Given the description of an element on the screen output the (x, y) to click on. 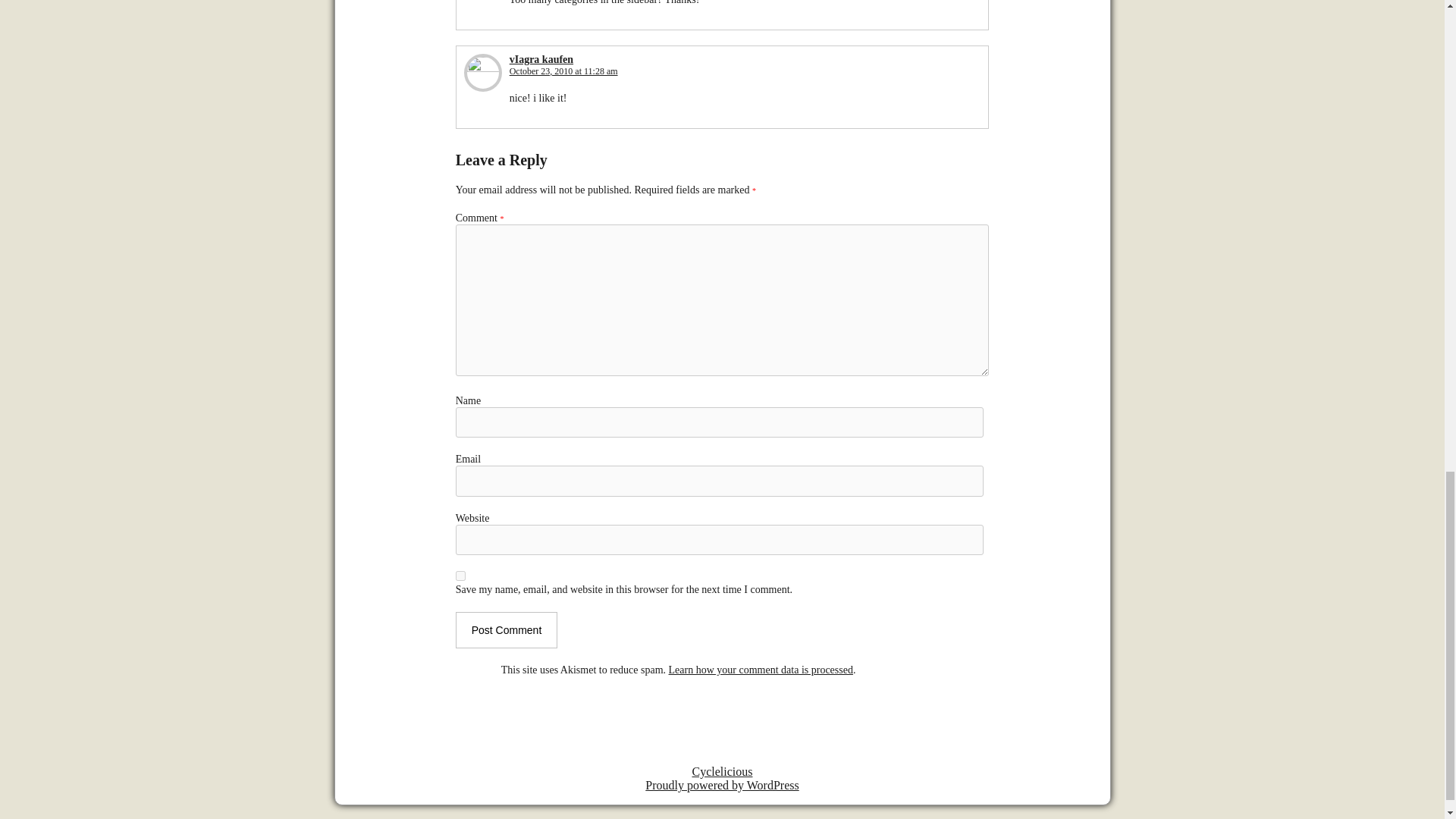
Post Comment (506, 629)
Proudly powered by WordPress (721, 784)
yes (460, 575)
Learn how your comment data is processed (760, 669)
Post Comment (506, 629)
vIagra kaufen (541, 59)
October 23, 2010 at 11:28 am (563, 71)
Cyclelicious (721, 771)
